Given the description of an element on the screen output the (x, y) to click on. 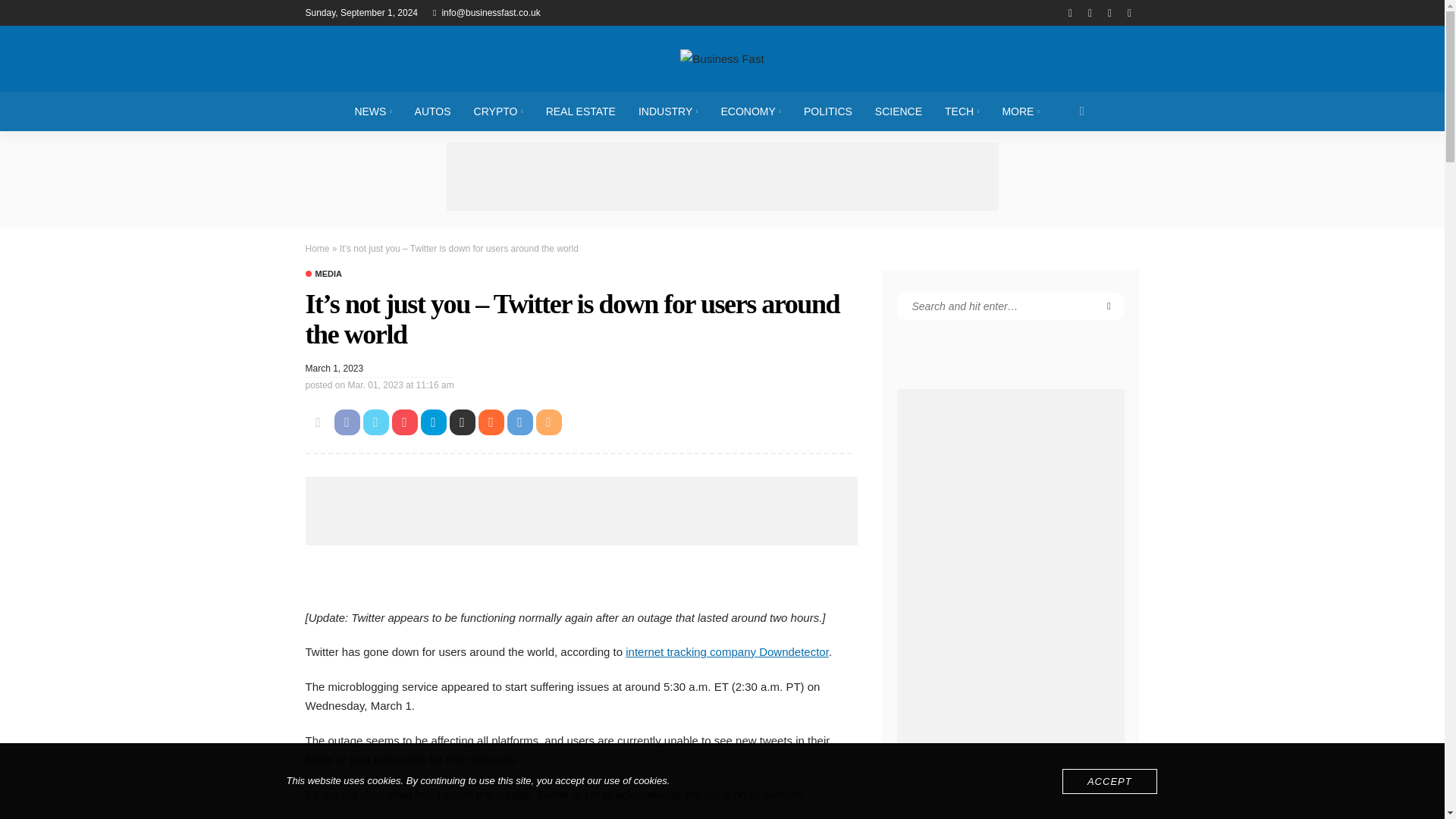
MORE (1019, 111)
CRYPTO (498, 111)
search (1082, 111)
POLITICS (827, 111)
AUTOS (433, 111)
Media (322, 274)
ECONOMY (750, 111)
REAL ESTATE (580, 111)
SCIENCE (898, 111)
Business Fast (721, 58)
